Given the description of an element on the screen output the (x, y) to click on. 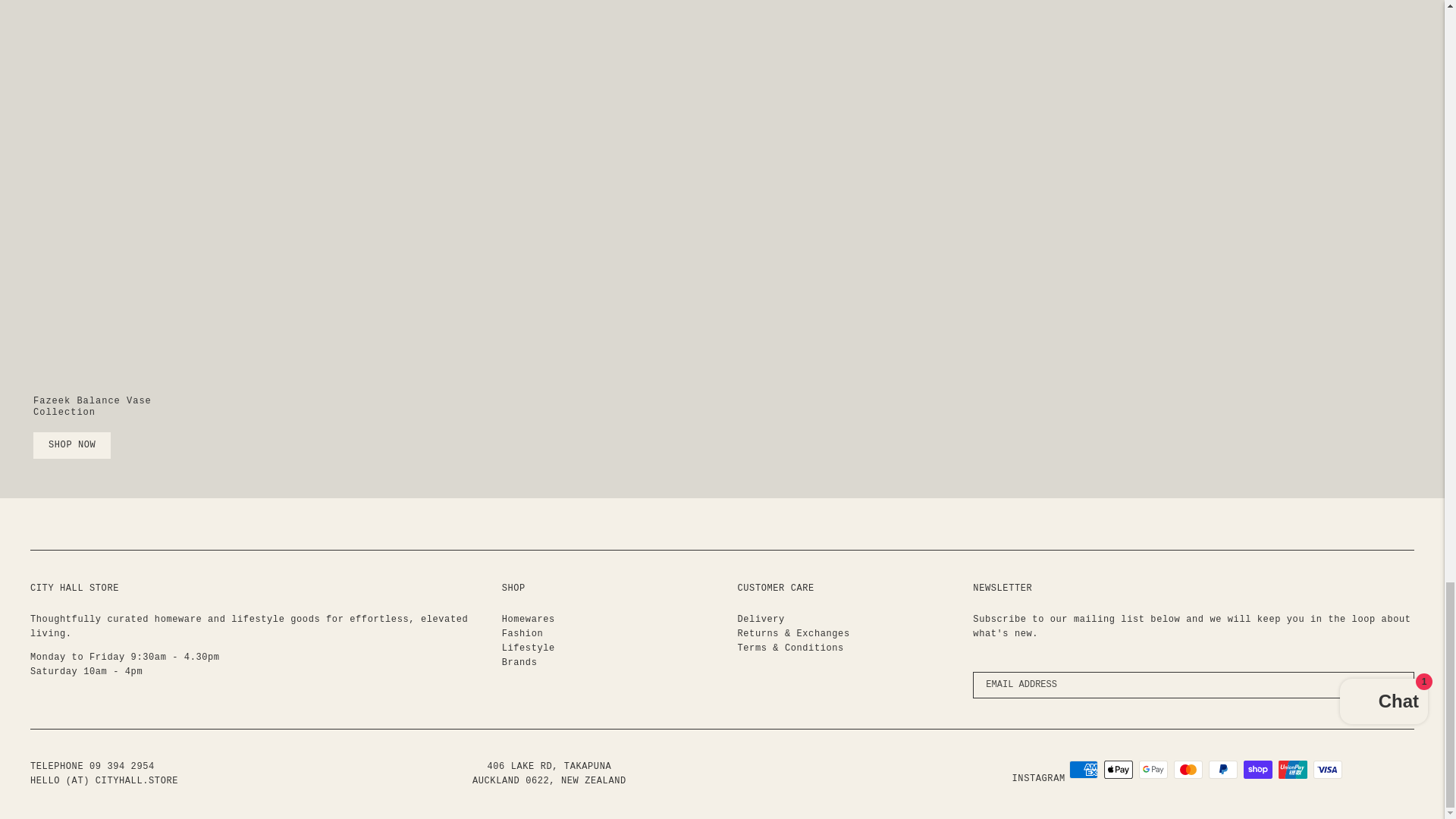
City Hall on Instagram (1038, 778)
Email City Hall (103, 780)
tel:093942954 (121, 766)
